Given the description of an element on the screen output the (x, y) to click on. 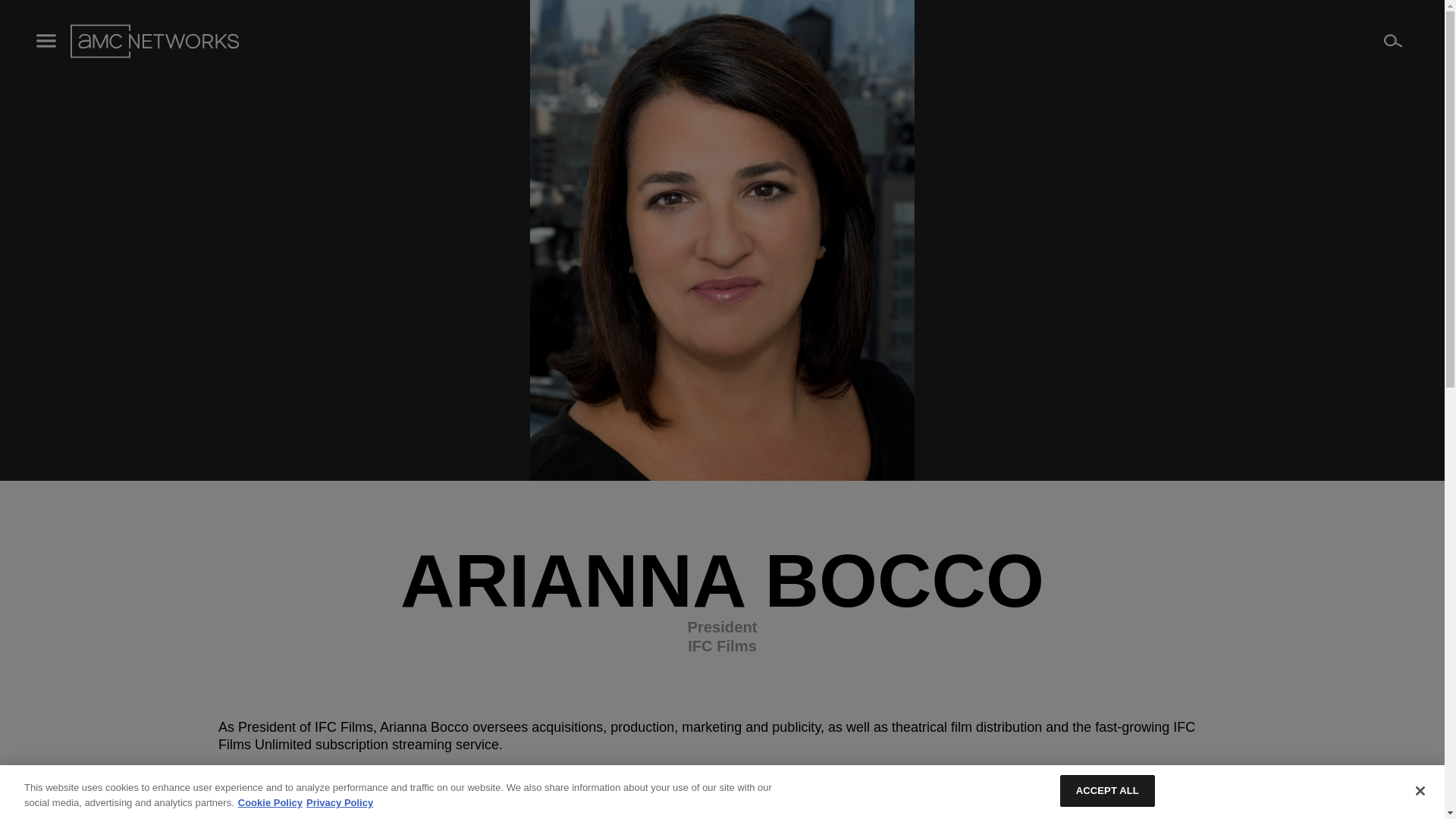
AMC Networks (153, 41)
